Given the description of an element on the screen output the (x, y) to click on. 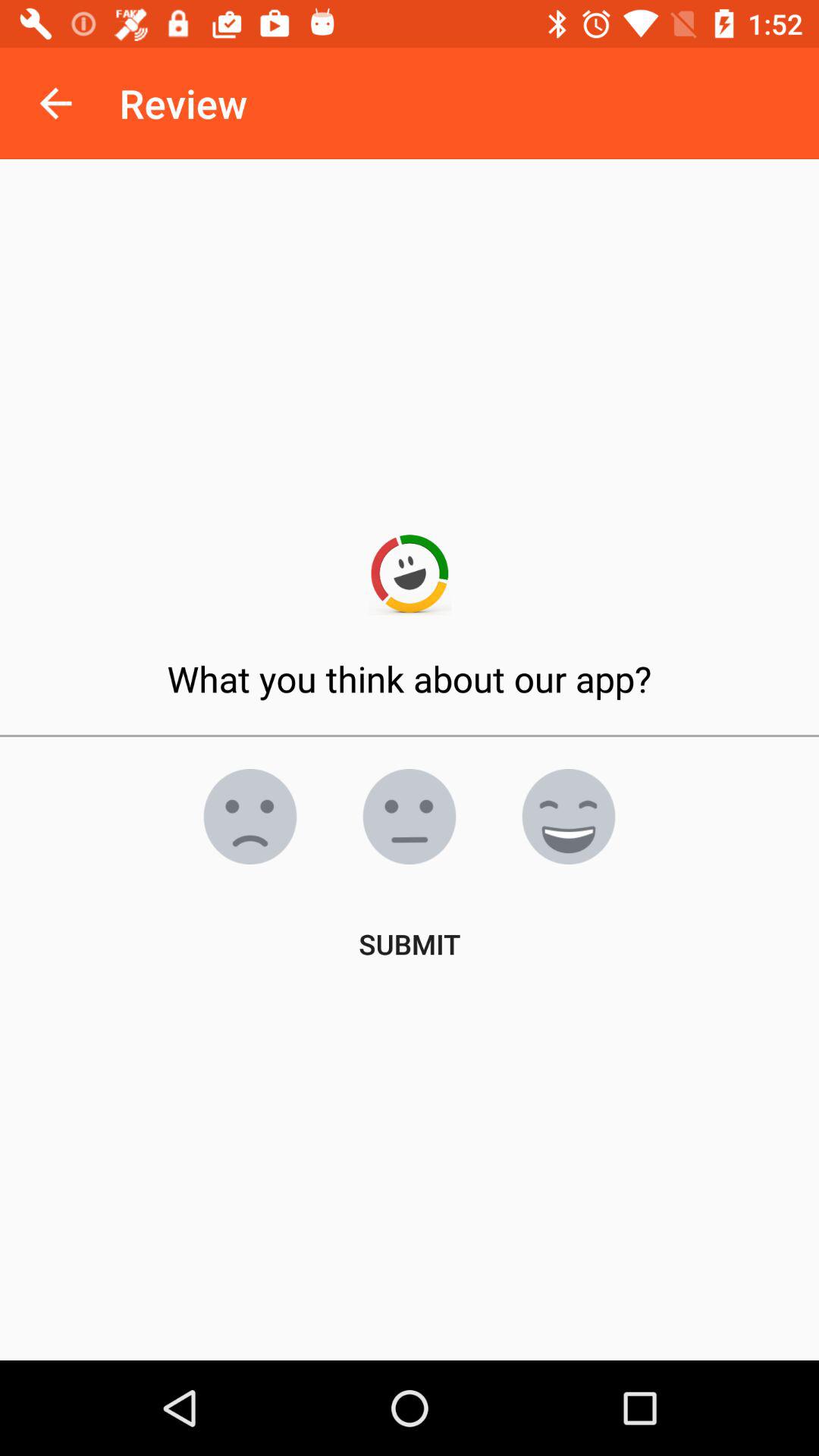
select app to the left of the review app (55, 103)
